Given the description of an element on the screen output the (x, y) to click on. 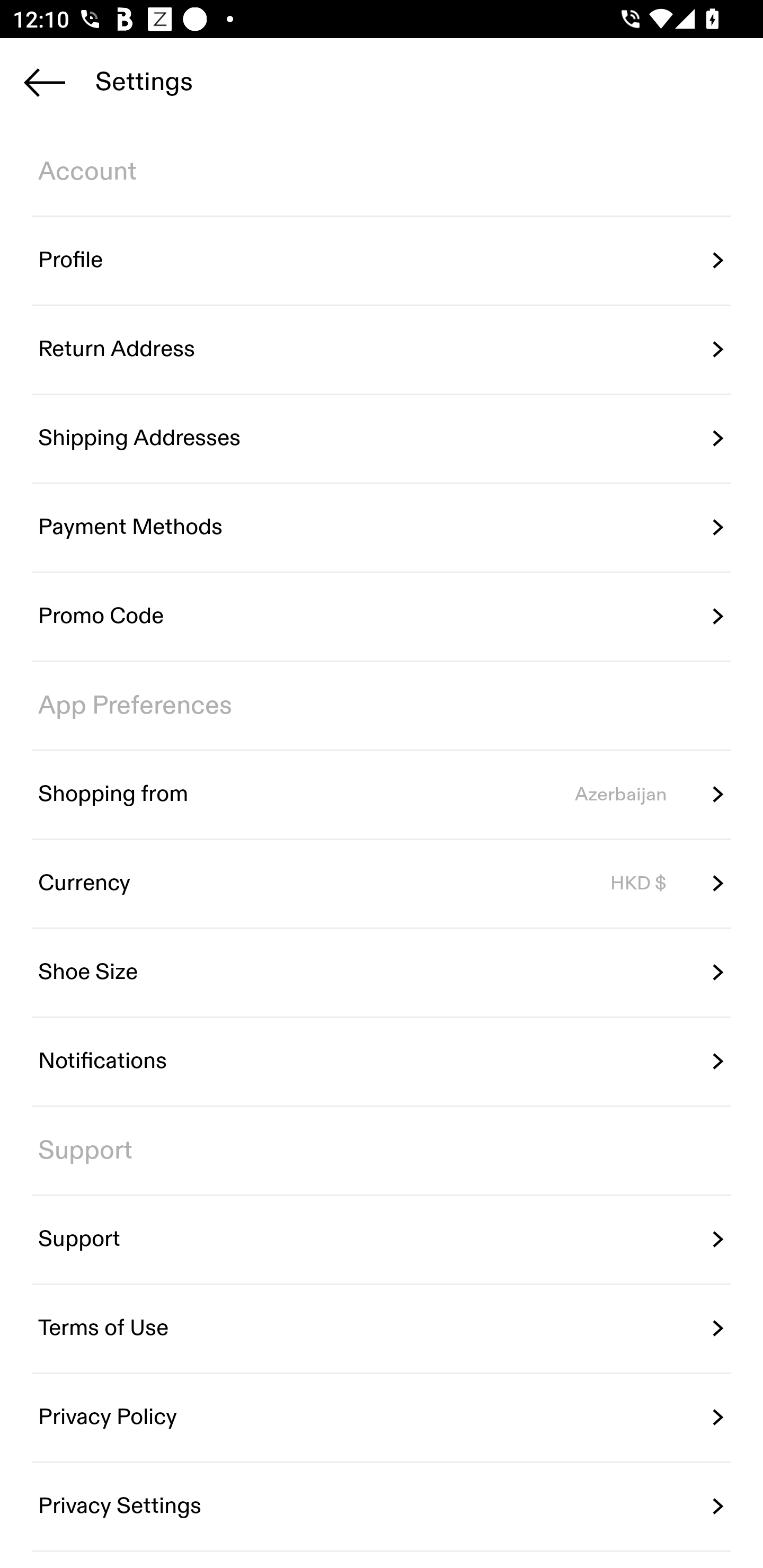
Navigate up (44, 82)
Profile (381, 260)
Return Address (381, 349)
Shipping Addresses (381, 437)
Payment Methods (381, 527)
Promo Code (381, 616)
Shopping from Azerbaijan (381, 793)
Currency HKD $ (381, 883)
Shoe Size (381, 972)
Notifications (381, 1061)
Support (381, 1239)
Terms of Use (381, 1328)
Privacy Policy (381, 1417)
Privacy Settings (381, 1505)
